Given the description of an element on the screen output the (x, y) to click on. 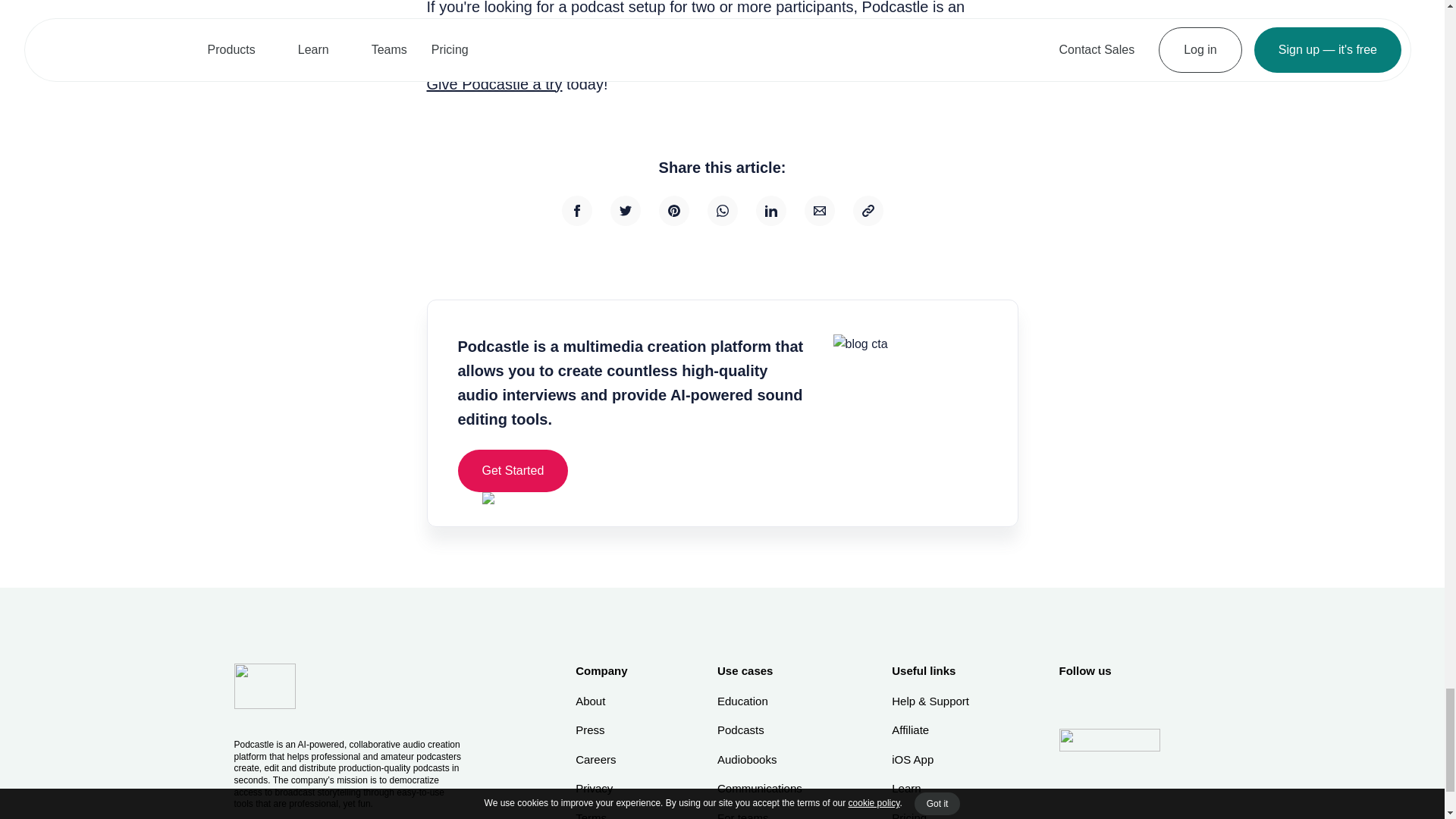
Audiobooks (759, 759)
Give Podcastle a try (494, 84)
Share on Whatsapp (721, 210)
Get Started (513, 470)
Share on Pinterest (673, 210)
Press (601, 730)
Send via email (818, 210)
Share on Linkedin (770, 210)
Copy the permalink (866, 210)
Education (759, 701)
